Given the description of an element on the screen output the (x, y) to click on. 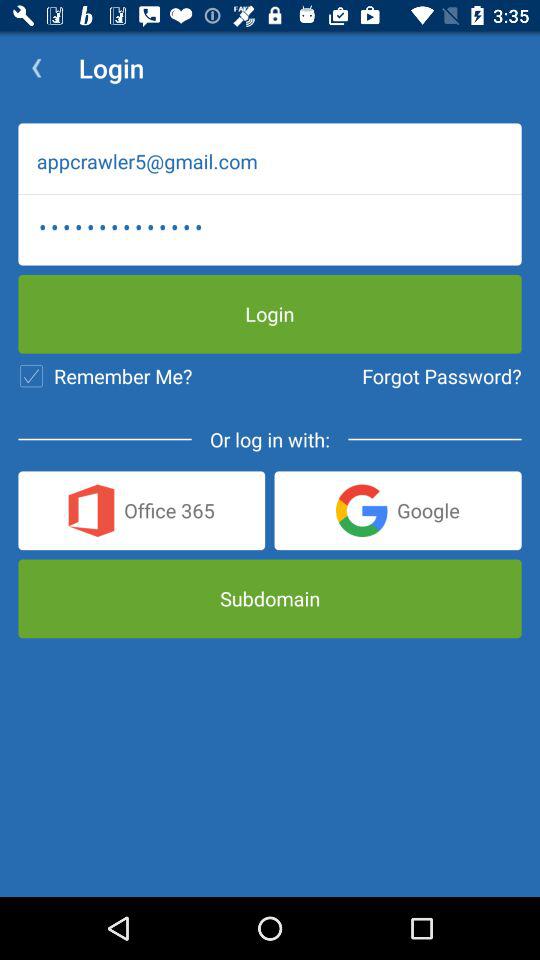
press icon to the left of the login (36, 68)
